Given the description of an element on the screen output the (x, y) to click on. 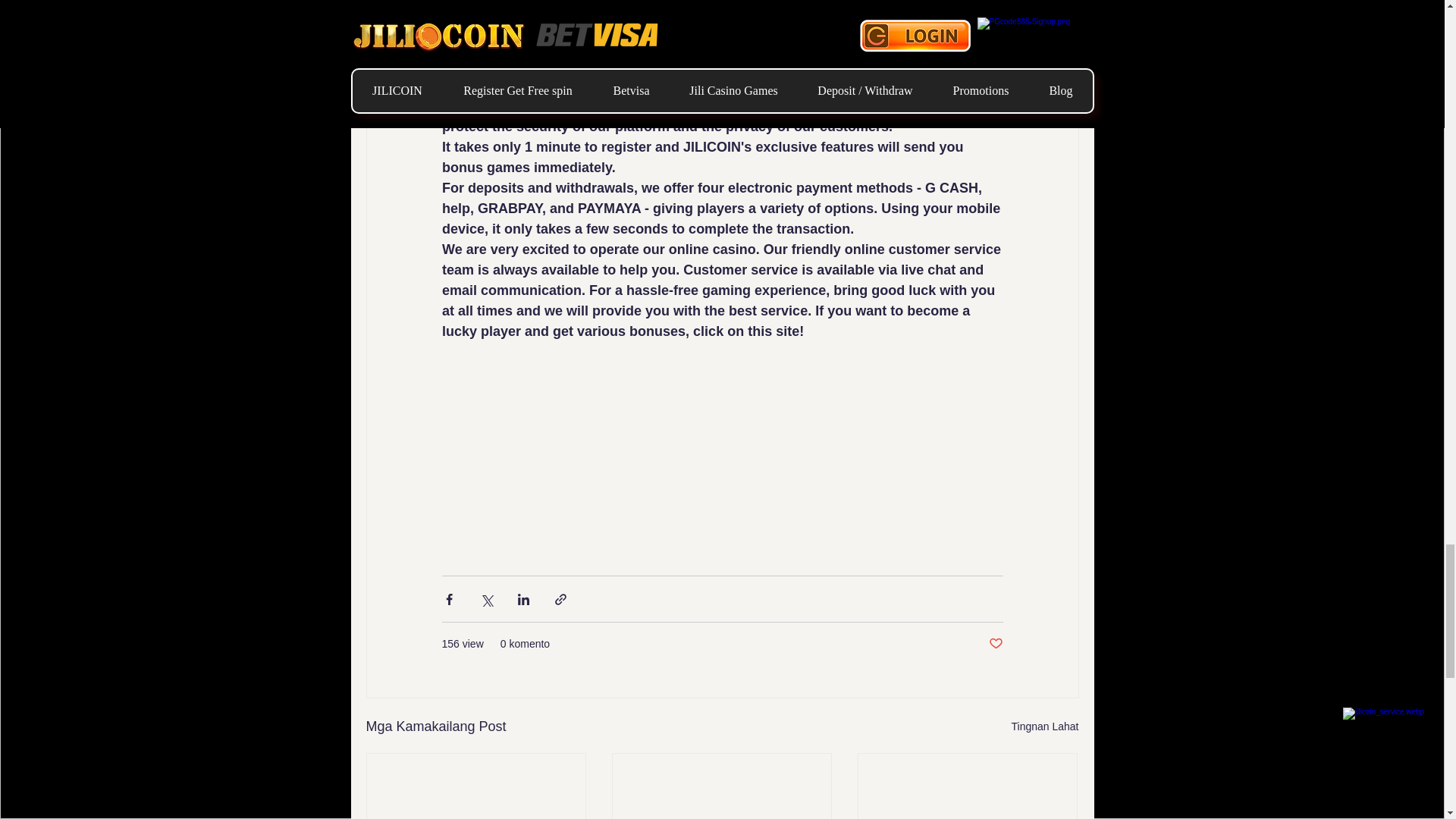
Tingnan Lahat (1044, 726)
Hindi minarkahan bilang na-like ang post (995, 643)
